Given the description of an element on the screen output the (x, y) to click on. 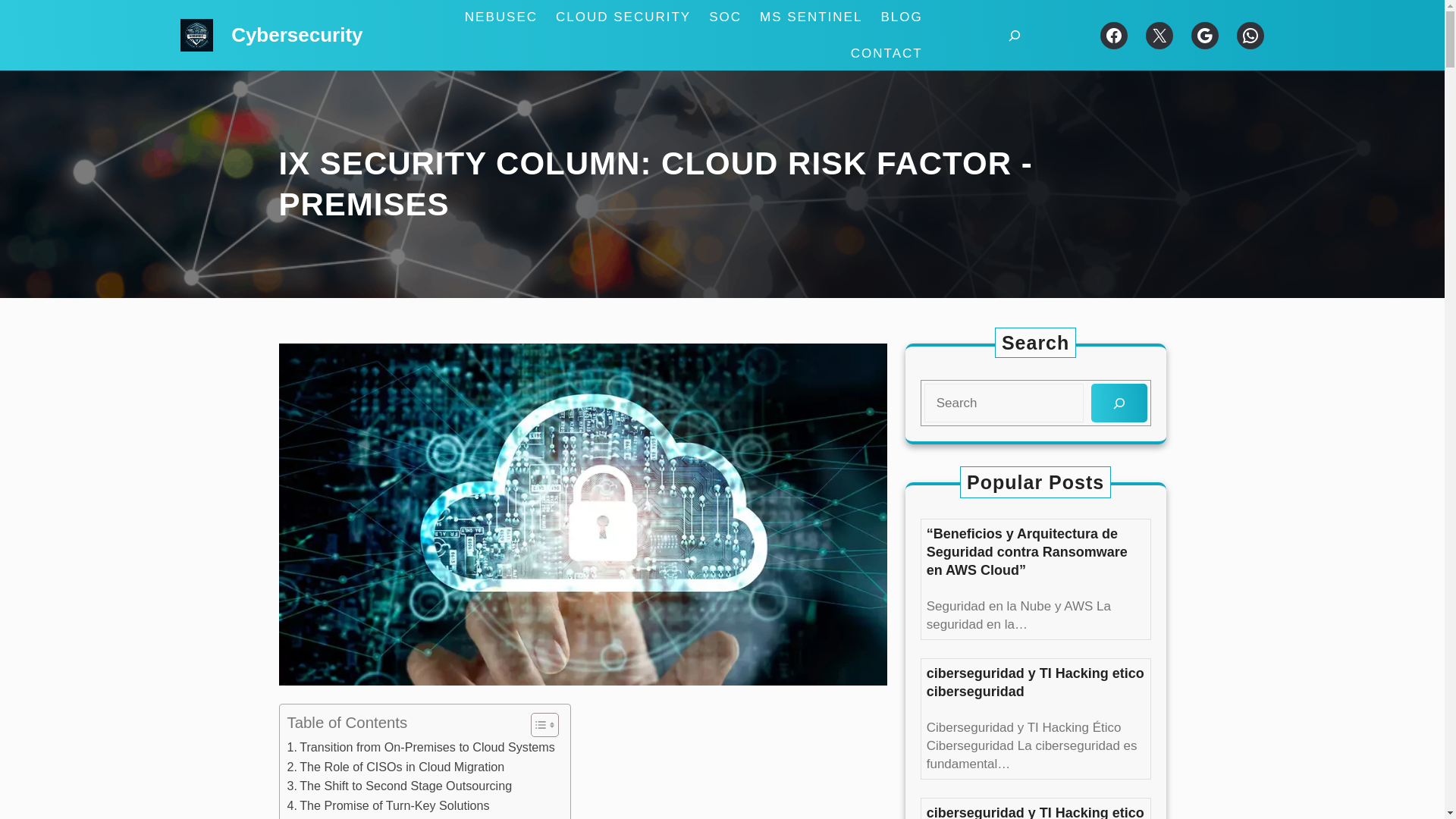
ciberseguridad y TI Hacking etico ciberseguridad (1035, 682)
Unrealistic to Turn Away from Cloud Services (414, 817)
BLOG (900, 17)
The Promise of Turn-Key Solutions (387, 805)
The Shift to Second Stage Outsourcing (399, 786)
WhatsApp (1249, 35)
The Promise of Turn-Key Solutions (387, 805)
X (1159, 35)
Transition from On-Premises to Cloud Systems (420, 747)
Google (1204, 35)
